Given the description of an element on the screen output the (x, y) to click on. 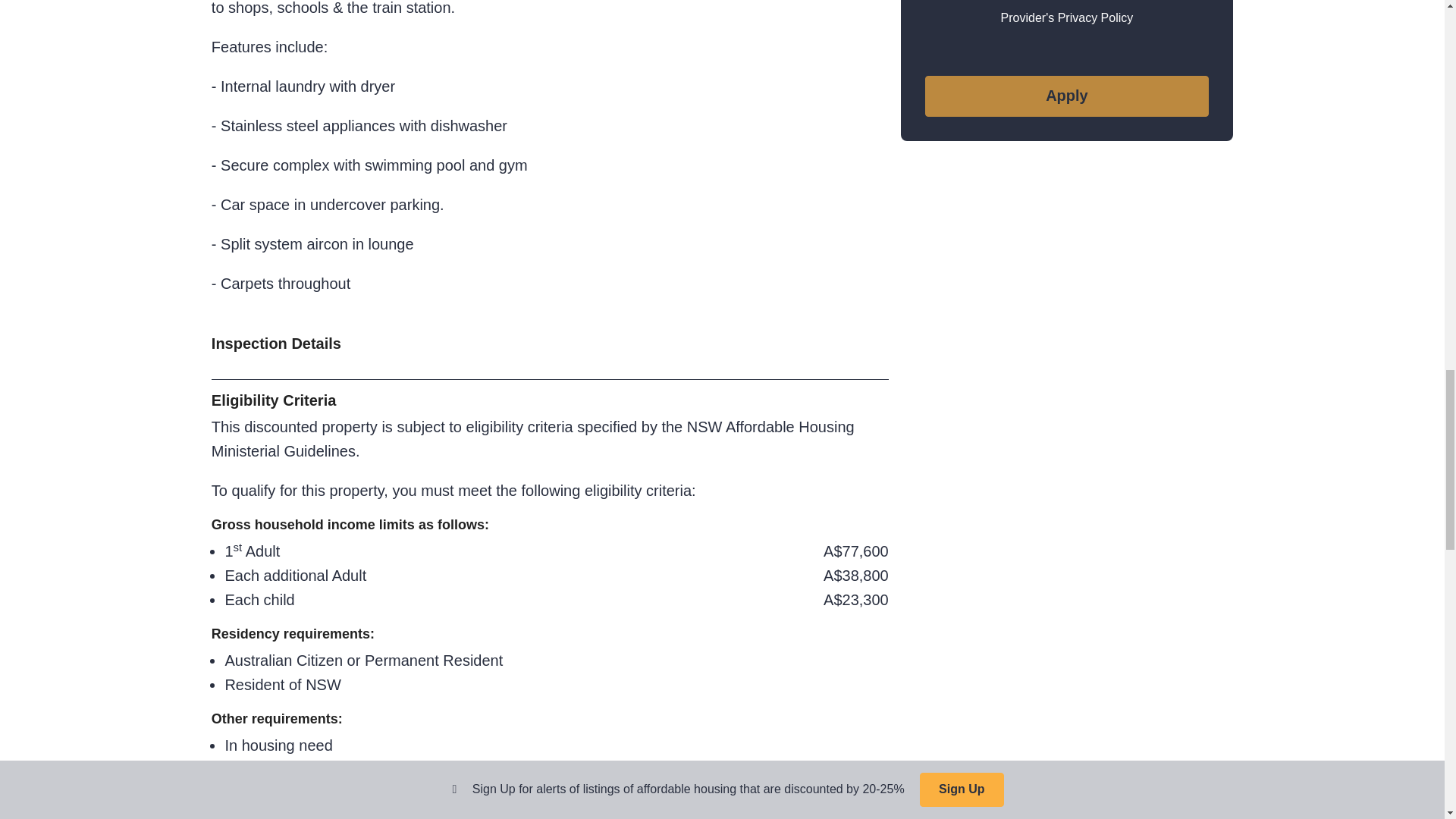
AHP Cannot lodge Application (1066, 96)
SGCH (1066, 1)
Provider's Privacy Policy (1067, 17)
